Given the description of an element on the screen output the (x, y) to click on. 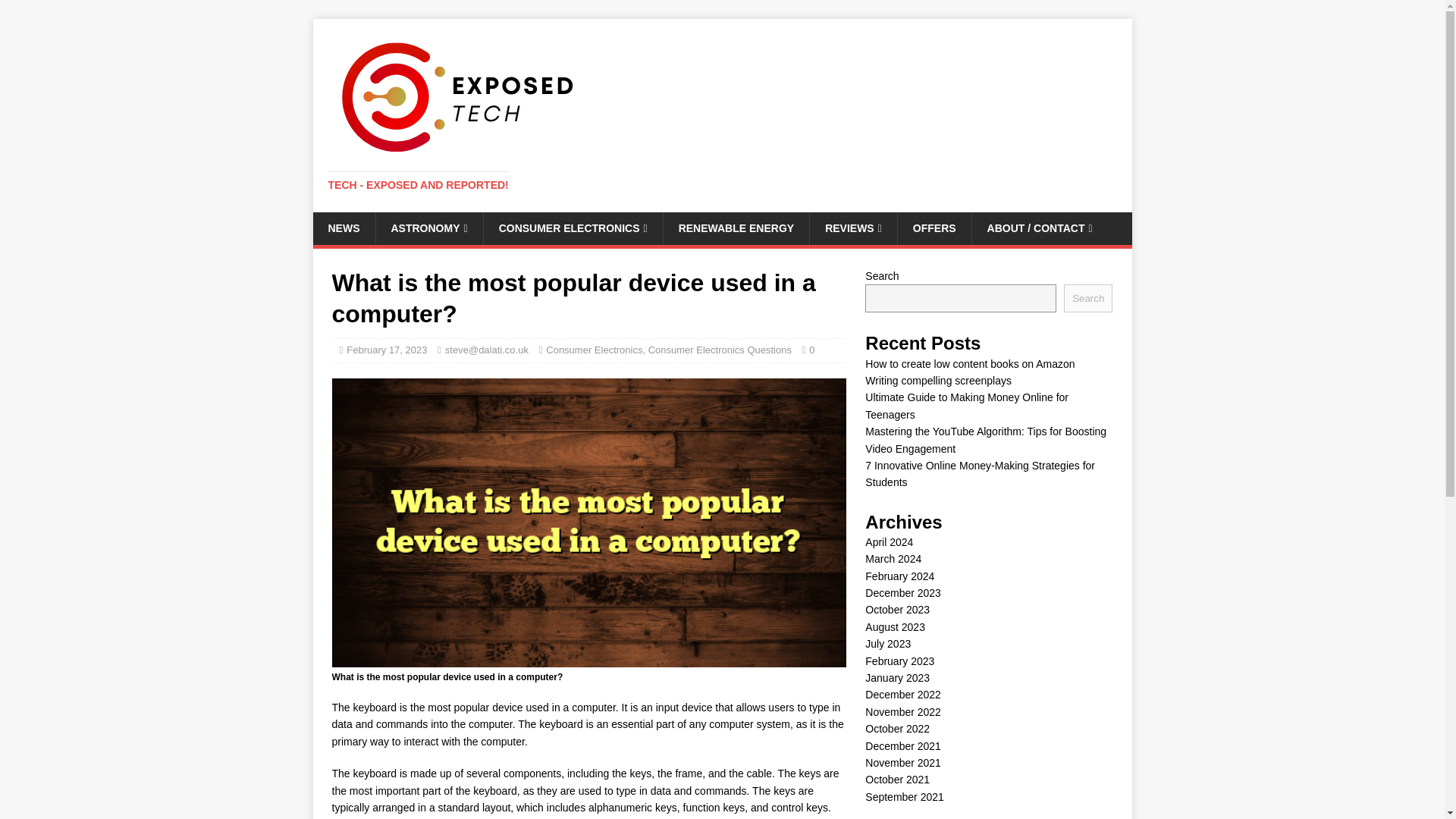
Consumer Electronics Questions (719, 349)
OFFERS (933, 228)
How to create low content books on Amazon (969, 363)
Ultimate Guide to Making Money Online for Teenagers (966, 405)
NEWS (343, 228)
ASTRONOMY (427, 228)
February 17, 2023 (386, 349)
Search (1088, 298)
TECH - EXPOSED AND REPORTED! (417, 184)
Consumer Electronics (594, 349)
